Given the description of an element on the screen output the (x, y) to click on. 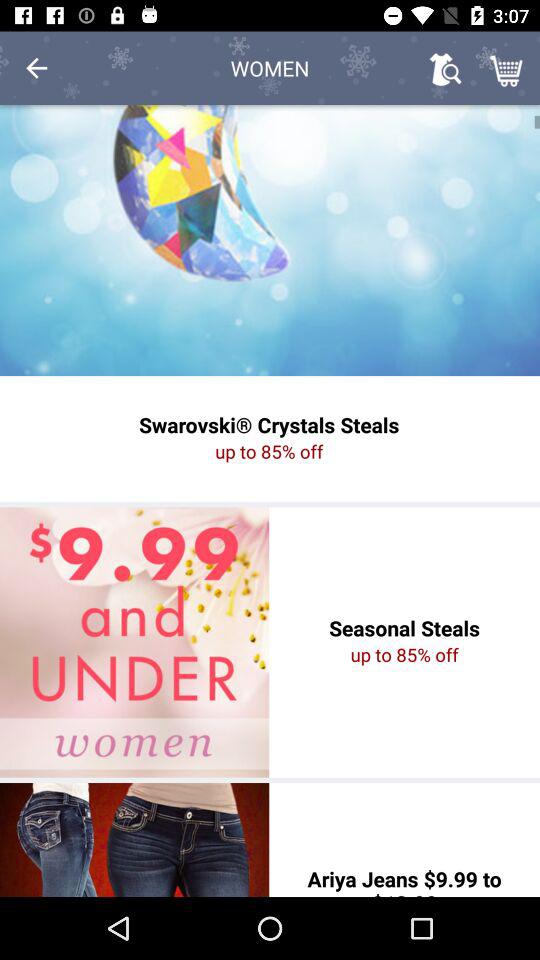
choose icon at the top left corner (36, 68)
